Given the description of an element on the screen output the (x, y) to click on. 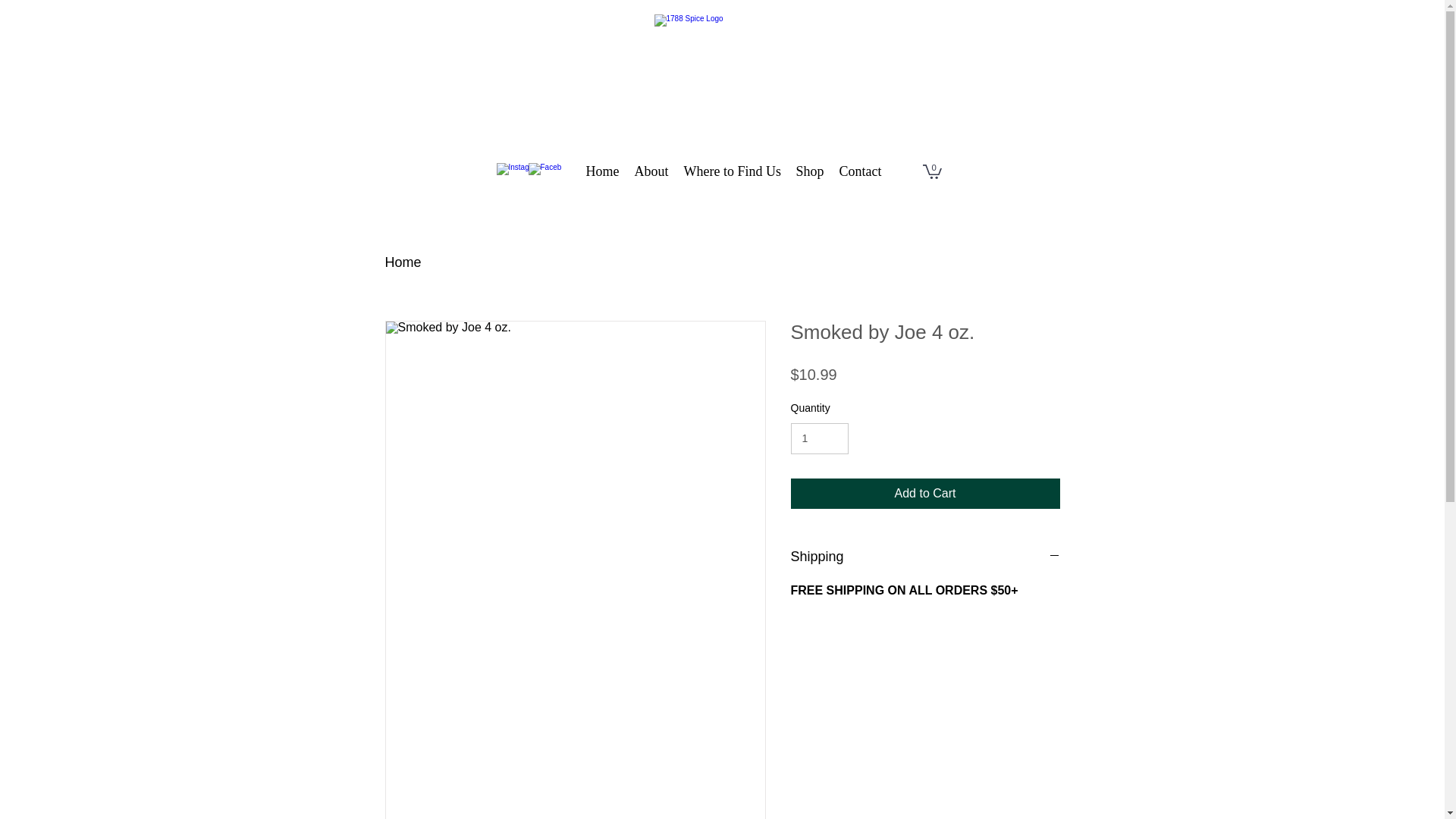
Shipping Element type: text (924, 557)
Add to Cart Element type: text (924, 493)
Home Element type: text (601, 170)
About Element type: text (650, 170)
Contact Element type: text (859, 170)
Home Element type: text (403, 261)
0 Element type: text (931, 170)
Shop Element type: text (809, 170)
Where to Find Us Element type: text (732, 170)
